Given the description of an element on the screen output the (x, y) to click on. 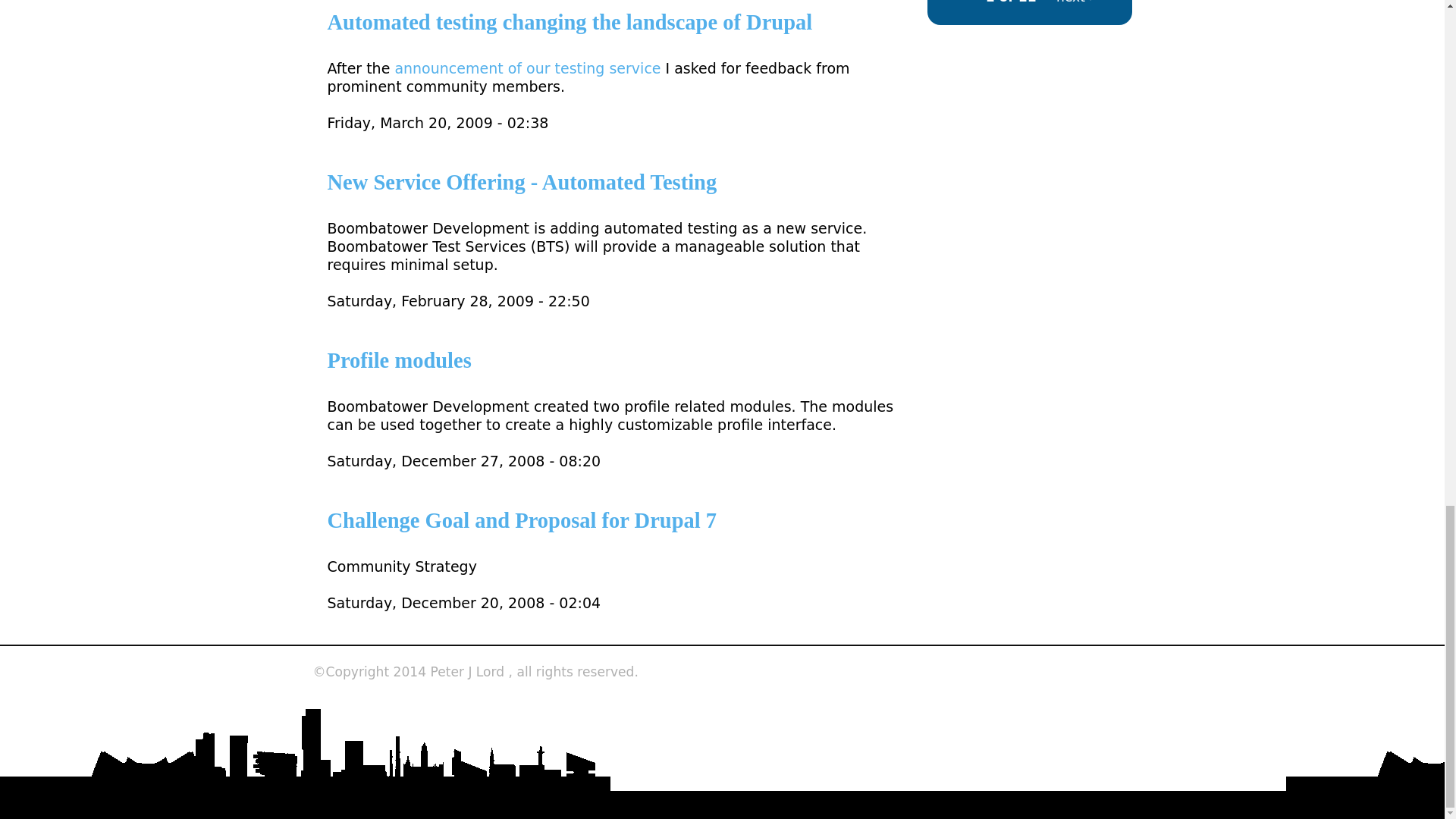
announcement of our testing service (527, 67)
New Service Offering - Automated Testing (522, 182)
Automated testing changing the landscape of Drupal (569, 22)
Go to next page (1075, 2)
Profile modules (399, 360)
Challenge Goal and Proposal for Drupal 7 (522, 520)
